Given the description of an element on the screen output the (x, y) to click on. 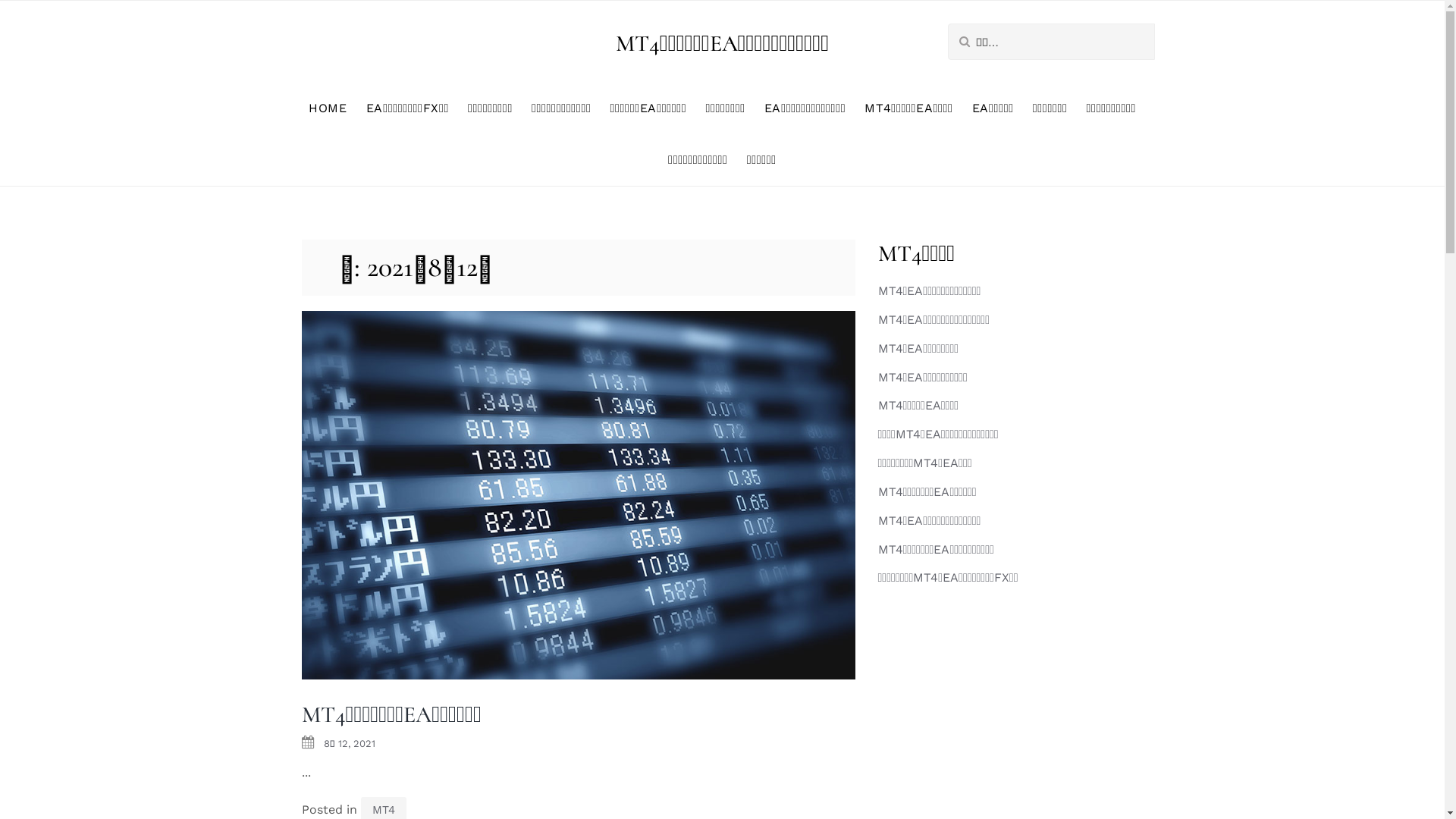
HOME Element type: text (327, 108)
